Given the description of an element on the screen output the (x, y) to click on. 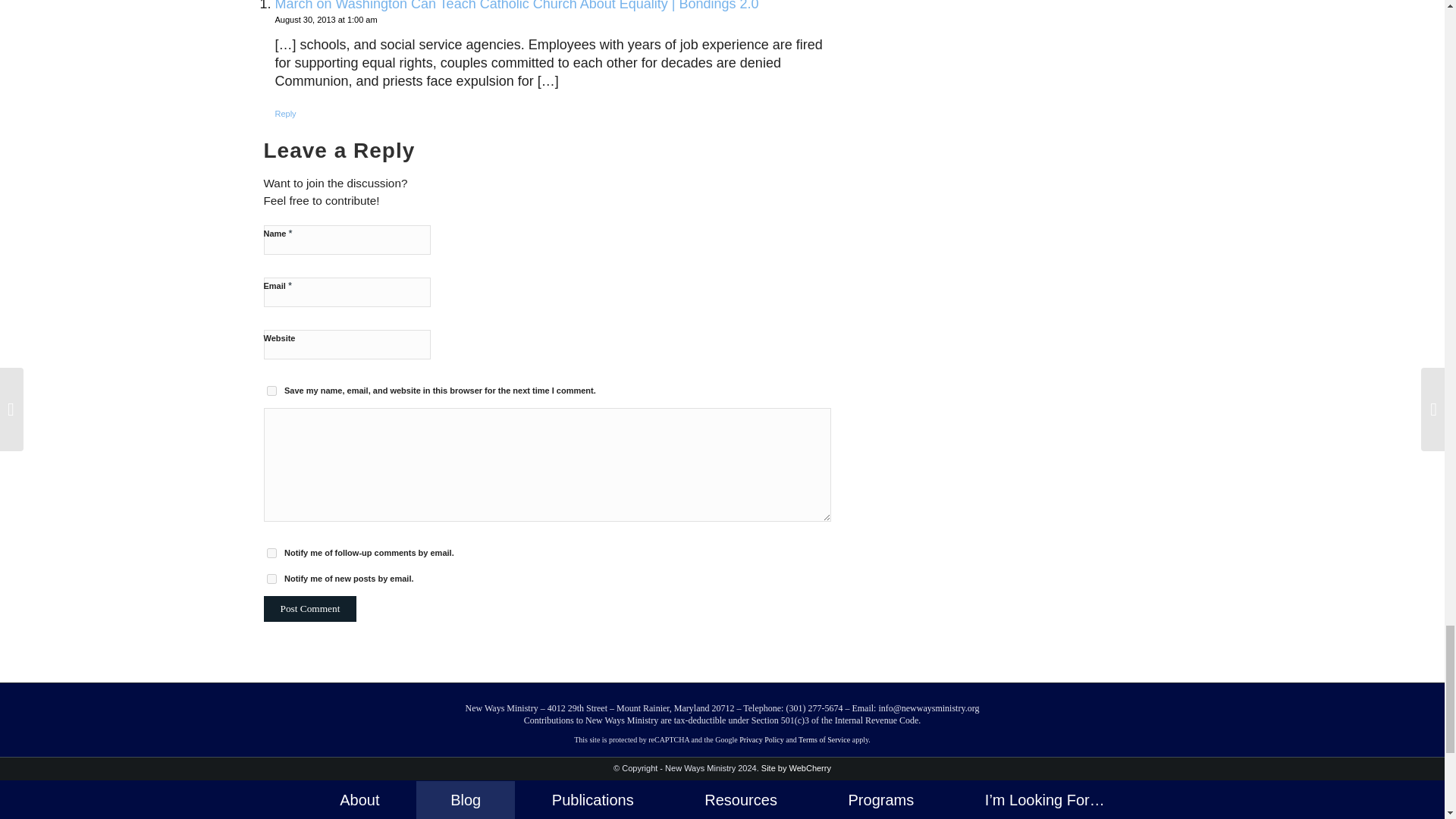
subscribe (271, 578)
yes (271, 390)
subscribe (271, 552)
Post Comment (309, 608)
